Given the description of an element on the screen output the (x, y) to click on. 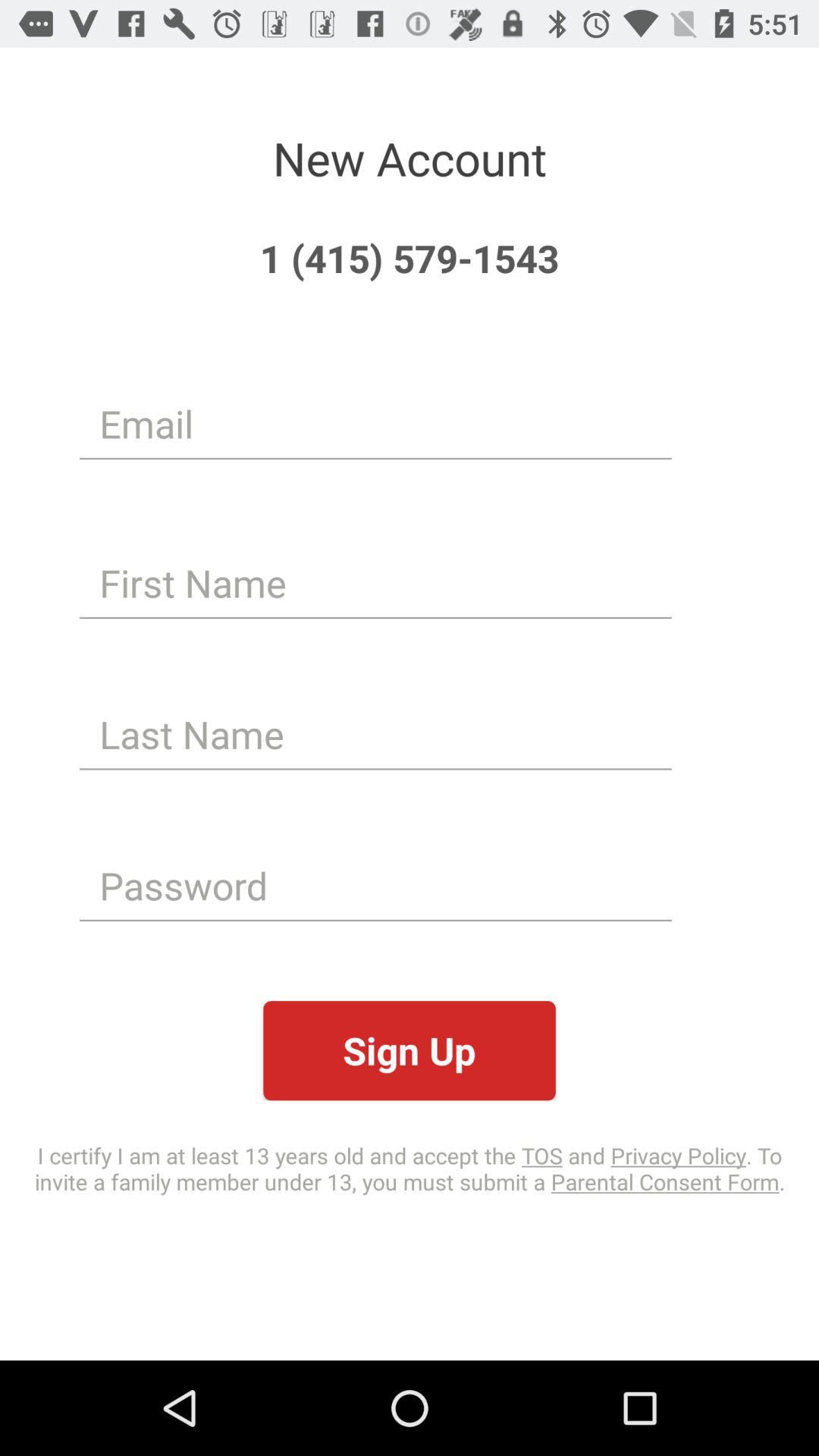
scroll to sign up (409, 1050)
